Given the description of an element on the screen output the (x, y) to click on. 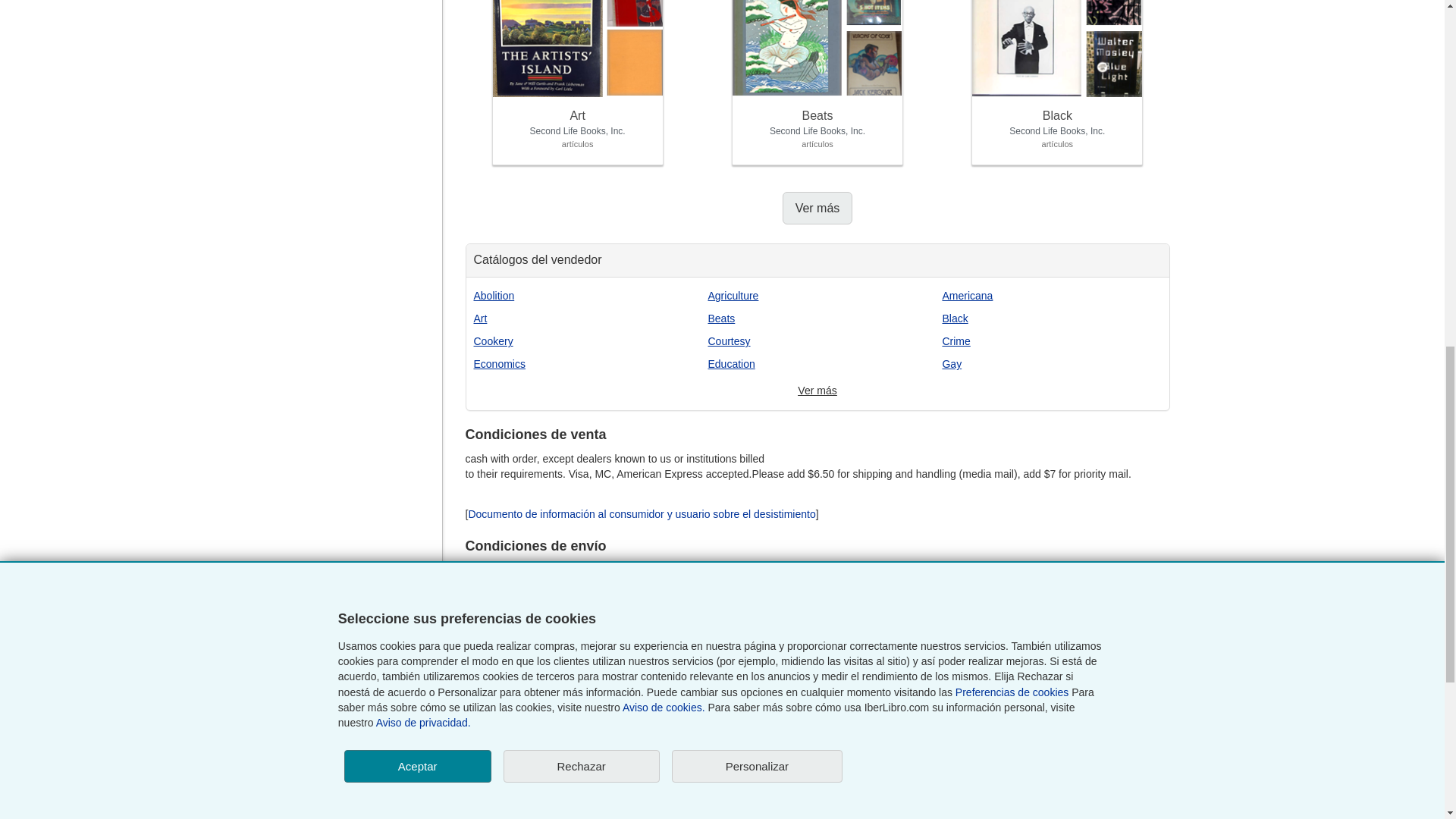
Art de Second Life Books, Inc. (577, 125)
Beats de Second Life Books, Inc. (817, 125)
Black de Second Life Books, Inc. (1056, 125)
